Given the description of an element on the screen output the (x, y) to click on. 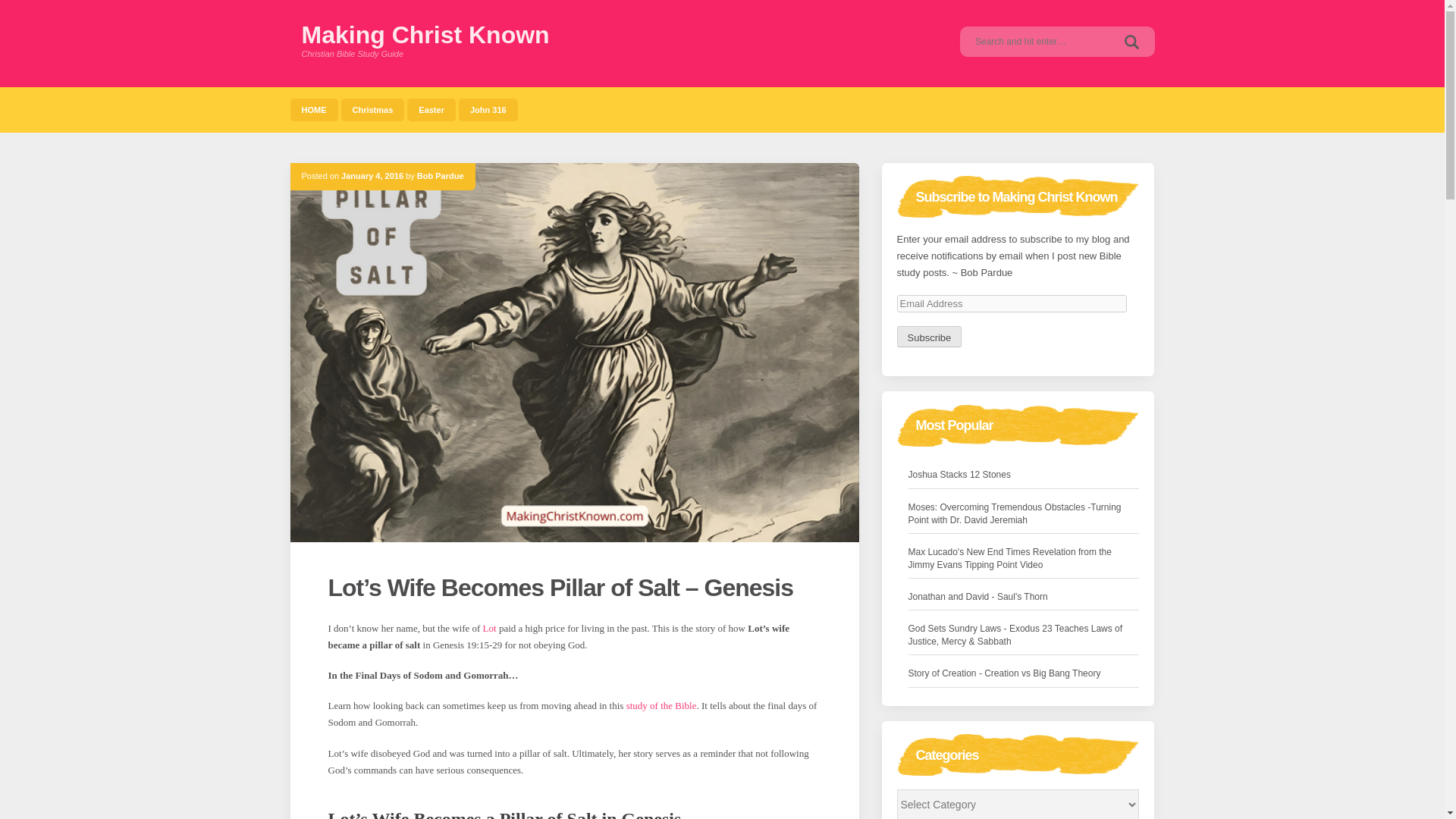
Jonathan and David - Saul's Thorn (978, 596)
HOME (313, 109)
Joshua Stacks 12 Stones (959, 474)
Easter (431, 109)
Search (1131, 41)
study of the Bible (661, 705)
Lot (489, 627)
John 316 (488, 109)
Easter (431, 109)
